Given the description of an element on the screen output the (x, y) to click on. 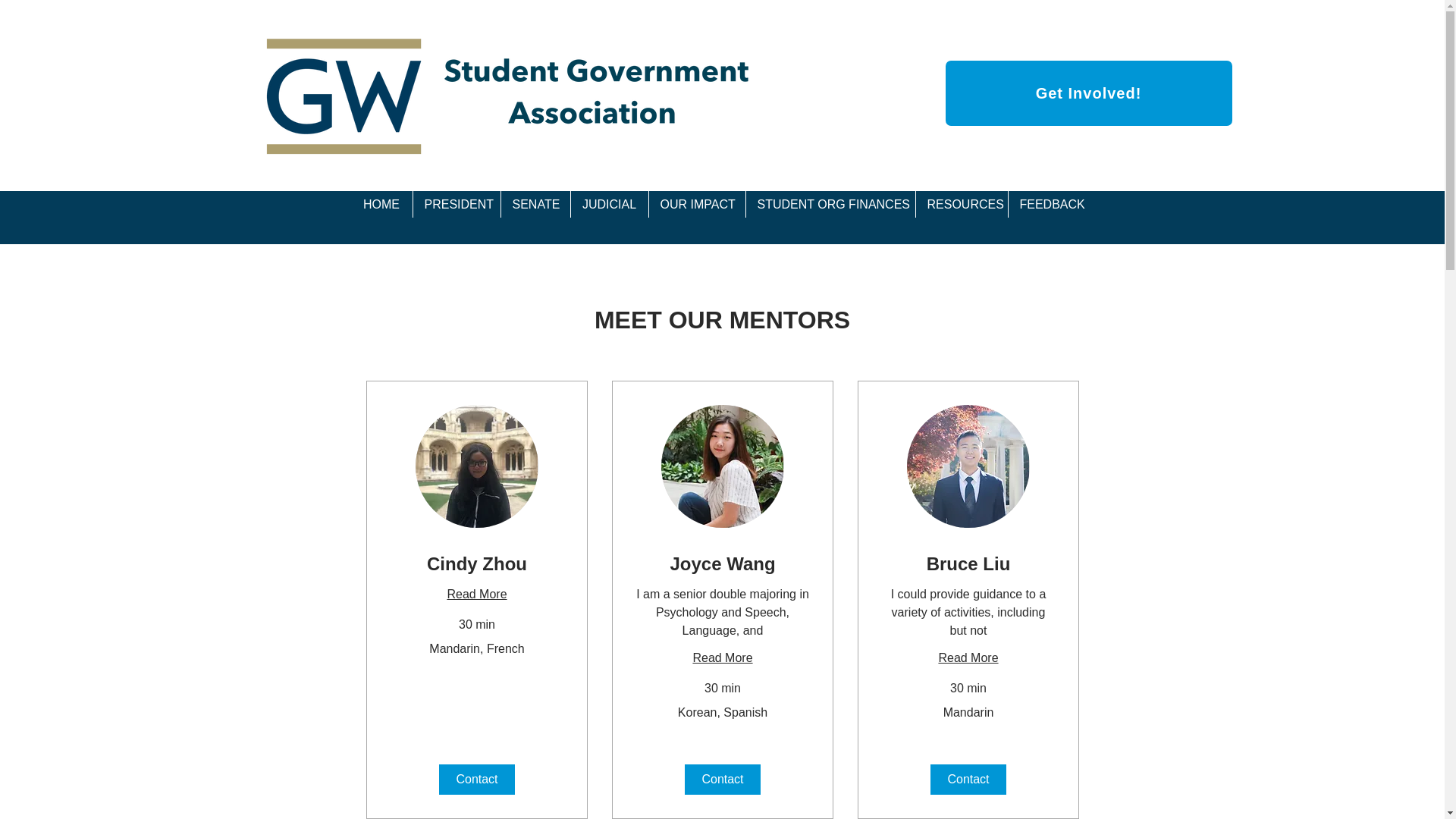
Get Involved! (1087, 93)
JUDICIAL (608, 203)
Joyce Wang (721, 564)
Read More (967, 658)
Cindy Zhou (476, 564)
Contact (722, 779)
HOME (381, 203)
SA.png (525, 93)
OUR IMPACT (695, 203)
Contact (475, 779)
PRESIDENT (456, 203)
Read More (721, 658)
Read More (476, 594)
Contact (968, 779)
SENATE (535, 203)
